Given the description of an element on the screen output the (x, y) to click on. 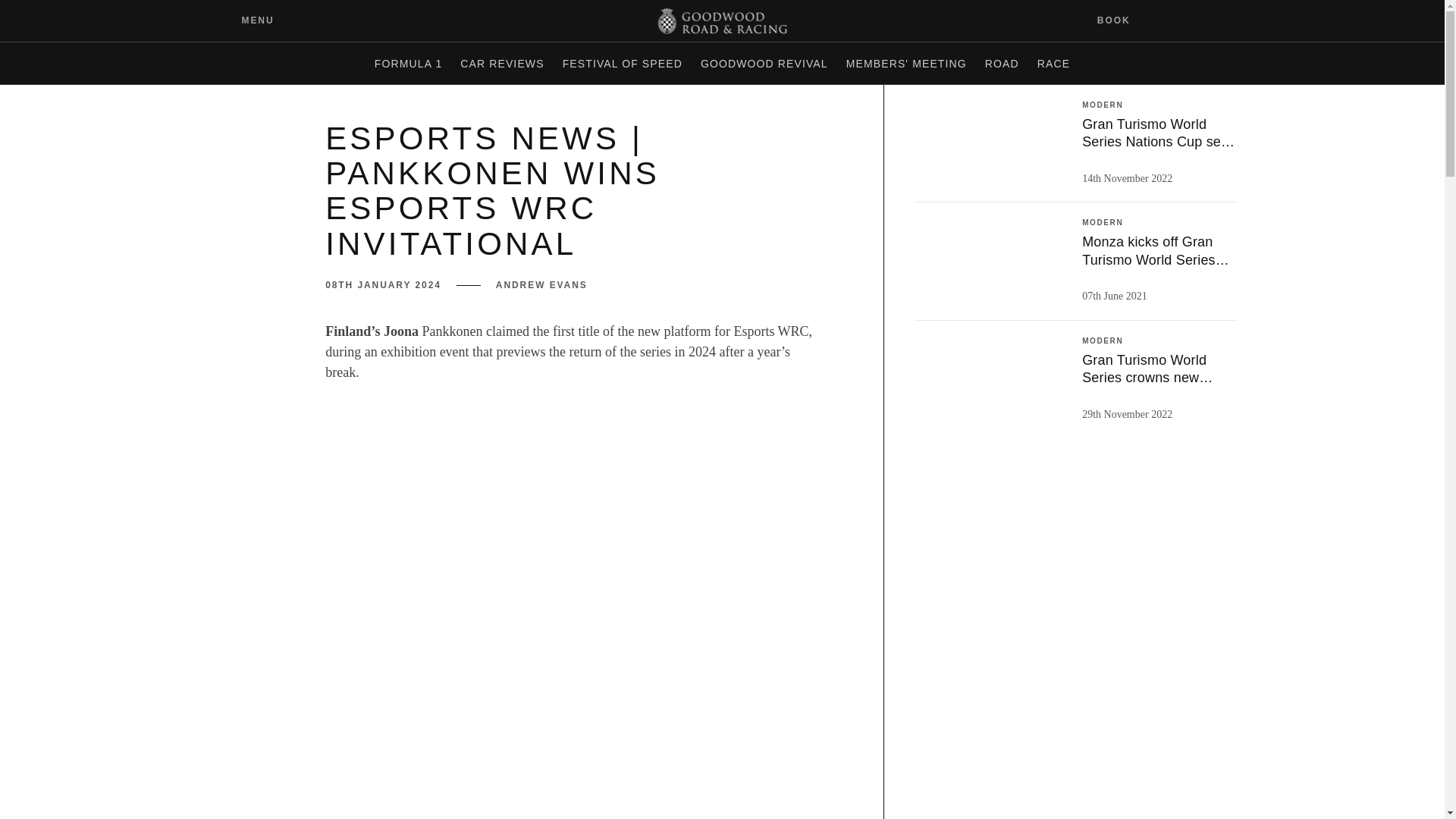
RACE (1053, 63)
BOOK (1122, 20)
MENU (246, 20)
GOODWOOD REVIVAL (764, 63)
FESTIVAL OF SPEED (622, 63)
FORMULA 1 (408, 63)
ROAD (1001, 63)
CAR REVIEWS (502, 63)
MEMBERS' MEETING (906, 63)
